Given the description of an element on the screen output the (x, y) to click on. 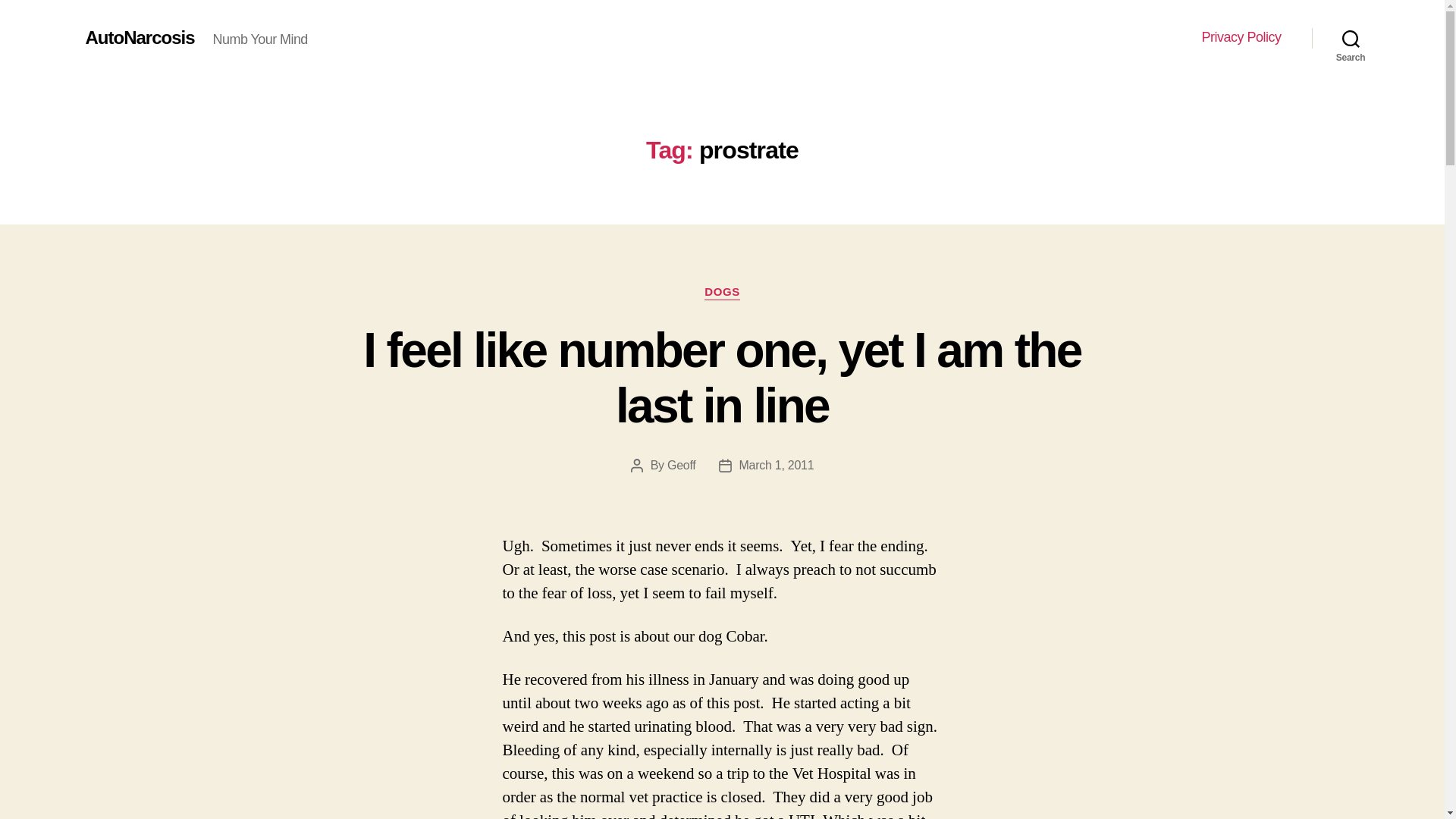
Privacy Policy (1241, 37)
AutoNarcosis (138, 37)
Search (1350, 37)
Geoff (680, 464)
I feel like number one, yet I am the last in line (721, 377)
DOGS (721, 292)
March 1, 2011 (776, 464)
